Given the description of an element on the screen output the (x, y) to click on. 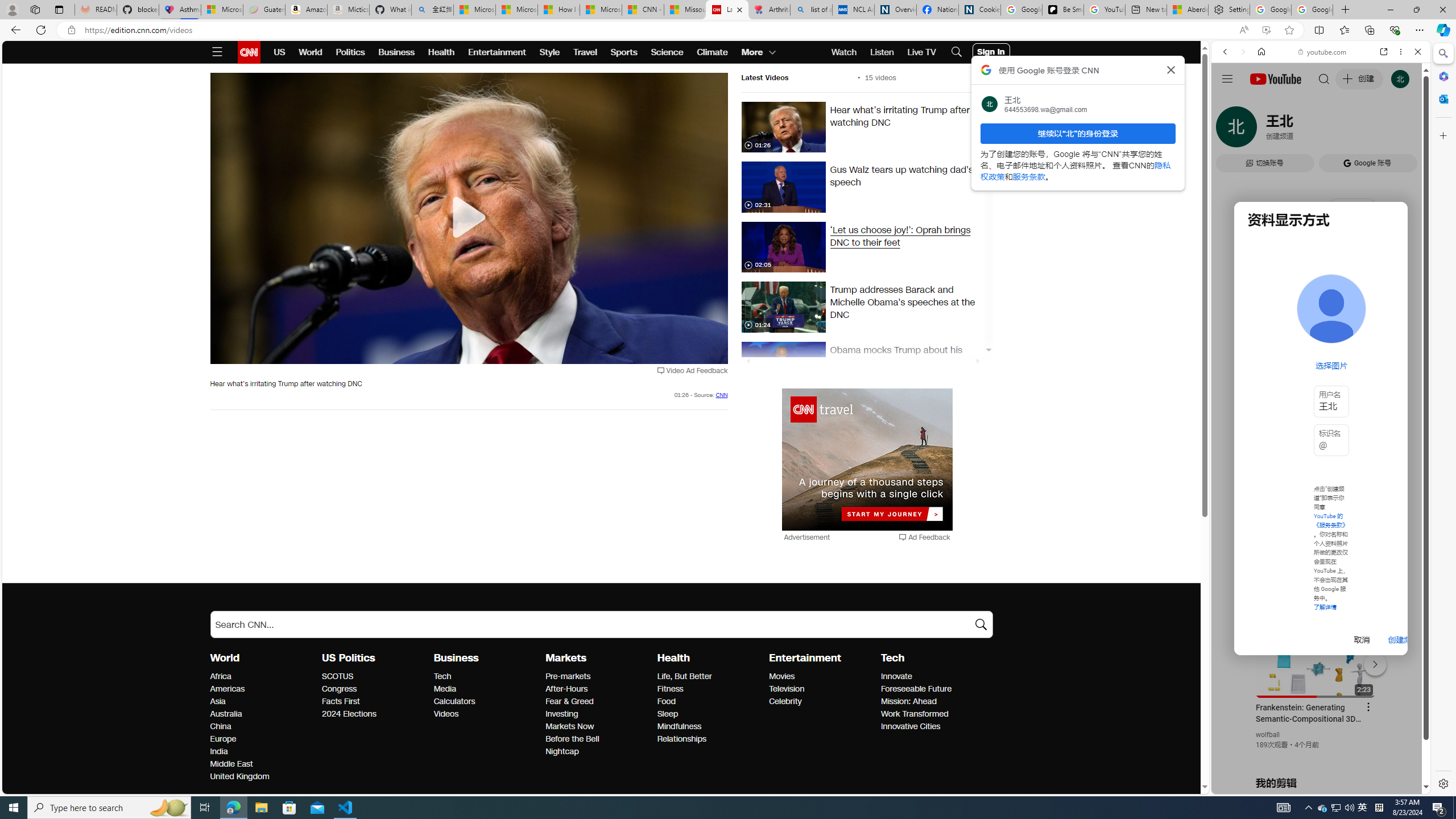
CNN logo (248, 51)
Health Food (665, 701)
US Politics Facts First (340, 701)
Climate (712, 51)
Music (1320, 309)
